Given the description of an element on the screen output the (x, y) to click on. 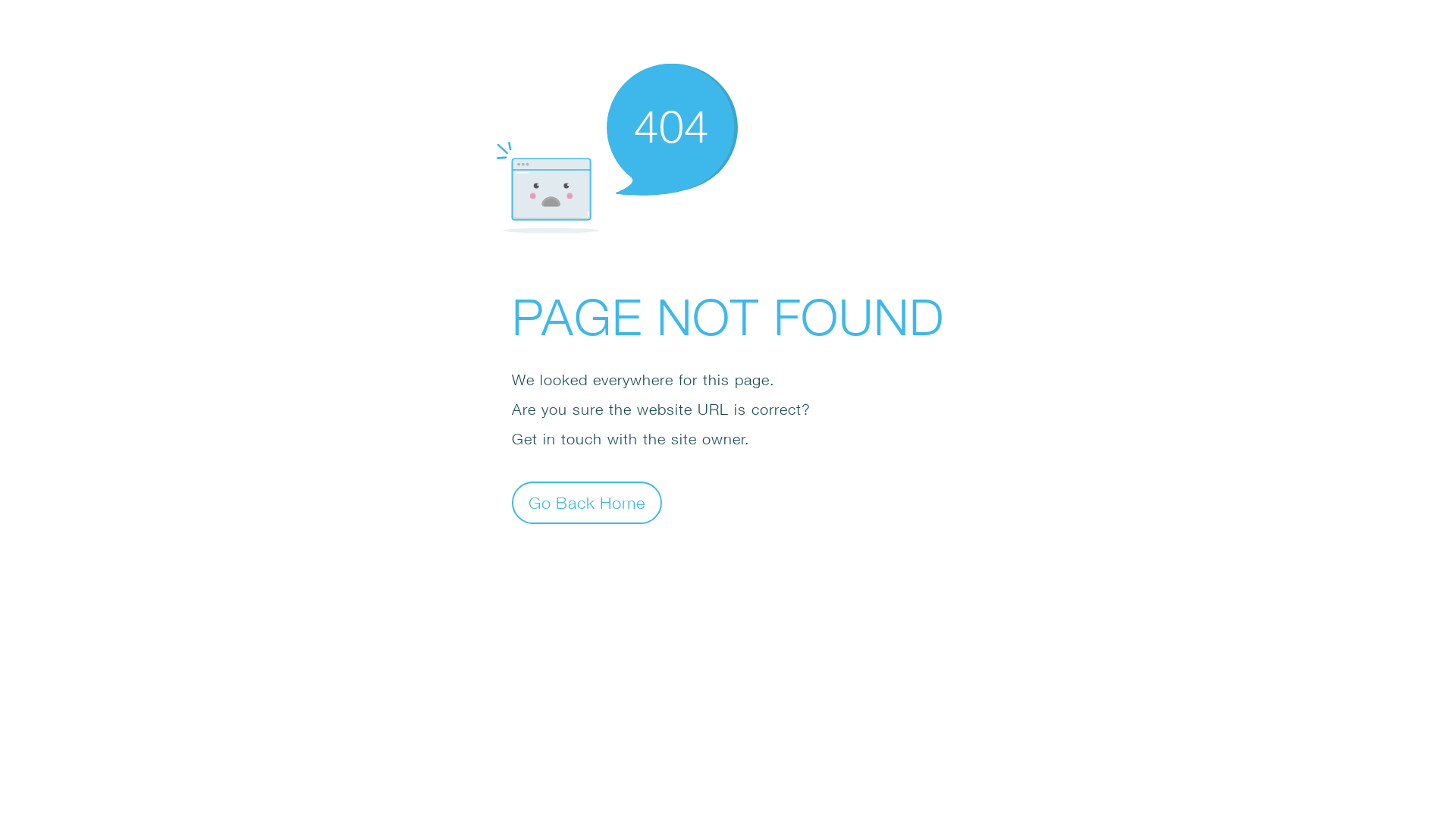
Go Back Home Element type: text (586, 502)
